Given the description of an element on the screen output the (x, y) to click on. 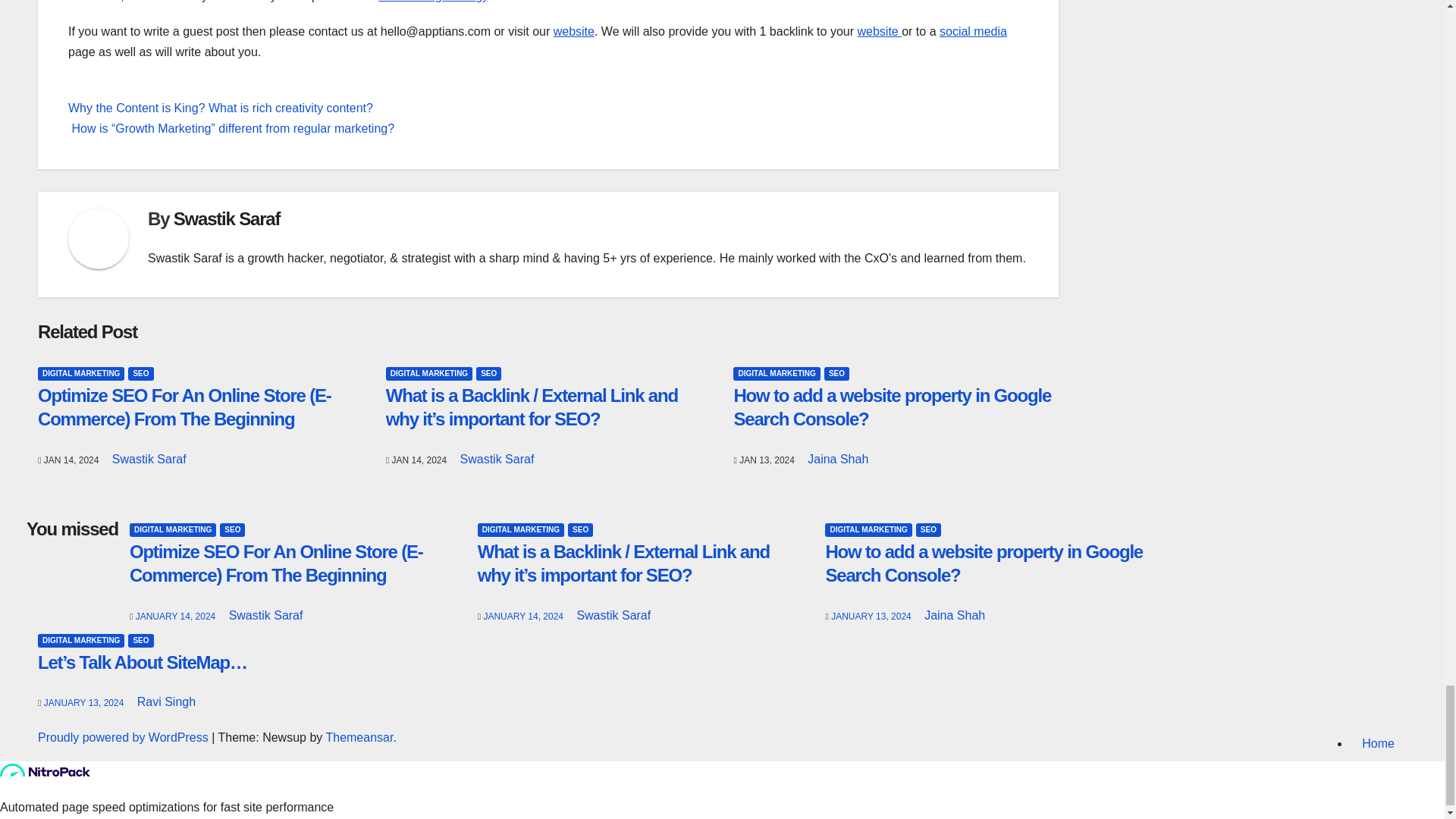
link building strategy (432, 1)
website (573, 31)
